Given the description of an element on the screen output the (x, y) to click on. 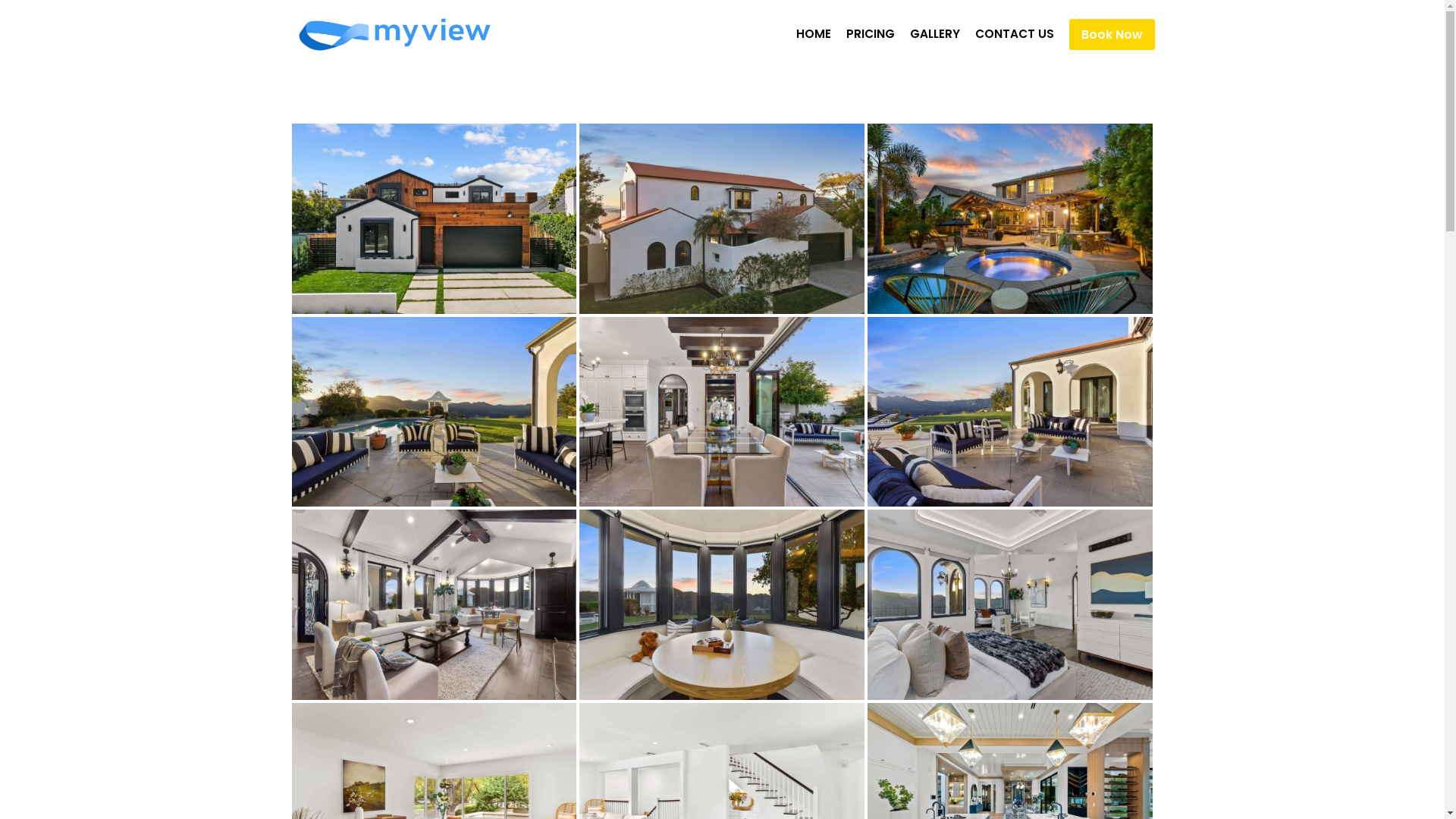
1_4 Element type: hover (721, 218)
A2-Rear Element type: hover (1009, 218)
1 Element type: hover (433, 411)
HOME Element type: text (813, 34)
CONTACT US Element type: text (1014, 34)
A-Front Element type: hover (433, 218)
27 Element type: hover (1009, 411)
62 Element type: hover (1009, 604)
24 Element type: hover (721, 411)
GALLERY Element type: text (935, 34)
42 Element type: hover (433, 604)
Book Now Element type: text (1111, 34)
Skip to content Element type: text (11, 31)
PRICING Element type: text (870, 34)
3D My View Element type: hover (397, 34)
45 Element type: hover (721, 604)
